Given the description of an element on the screen output the (x, y) to click on. 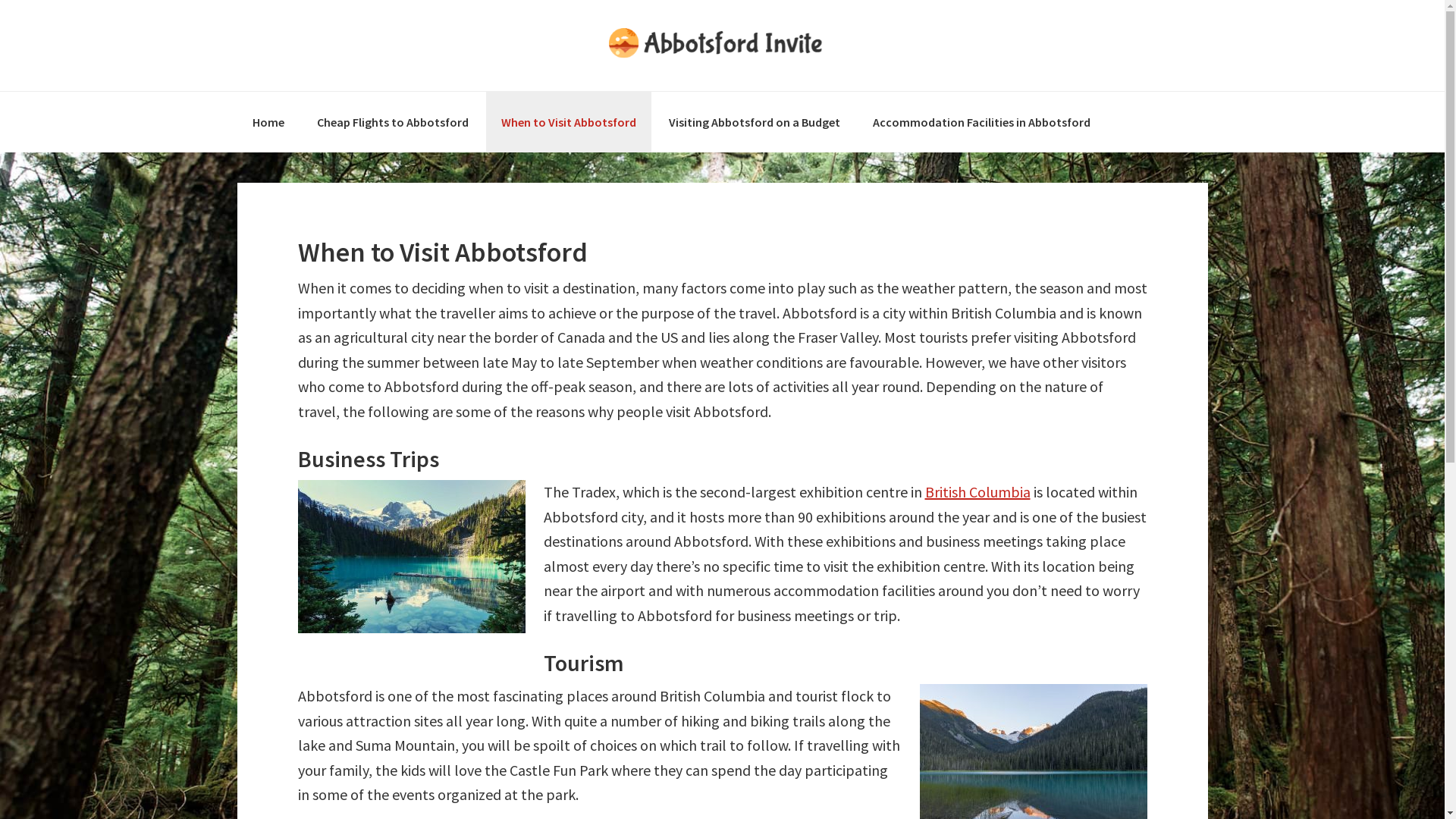
Home Element type: text (267, 121)
Cheap Flights to Abbotsford Element type: text (392, 121)
abbotsfordinvite.ca Element type: text (721, 45)
Skip to primary navigation Element type: text (0, 0)
Accommodation Facilities in Abbotsford Element type: text (980, 121)
When to Visit Abbotsford Element type: text (567, 121)
British Columbia Element type: text (977, 491)
Visiting Abbotsford on a Budget Element type: text (754, 121)
